Given the description of an element on the screen output the (x, y) to click on. 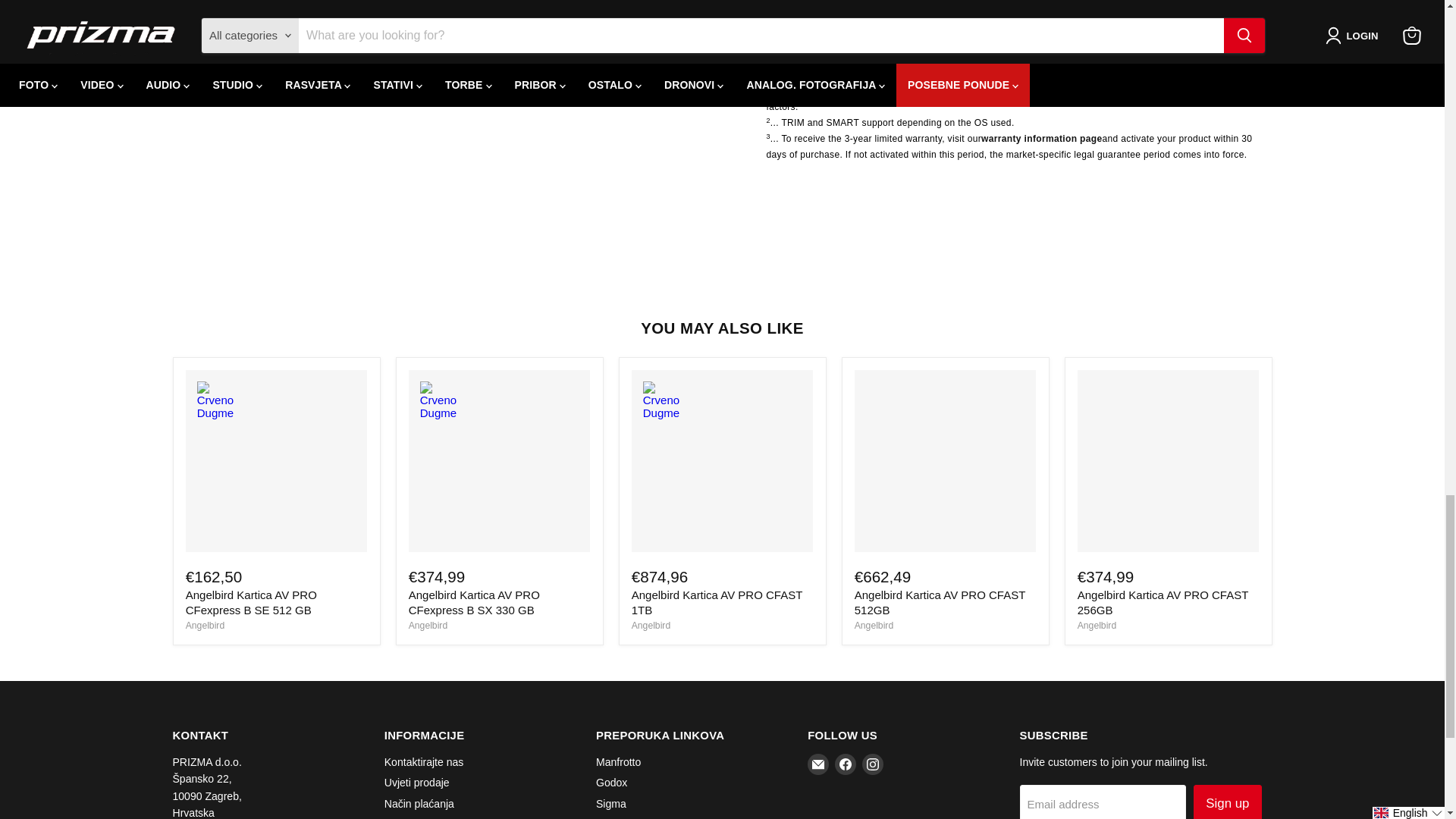
Angelbird (1096, 624)
Facebook (845, 763)
Email (818, 763)
Angelbird (873, 624)
Angelbird (427, 624)
Angelbird (205, 624)
Angelbird (650, 624)
Instagram (872, 763)
